Given the description of an element on the screen output the (x, y) to click on. 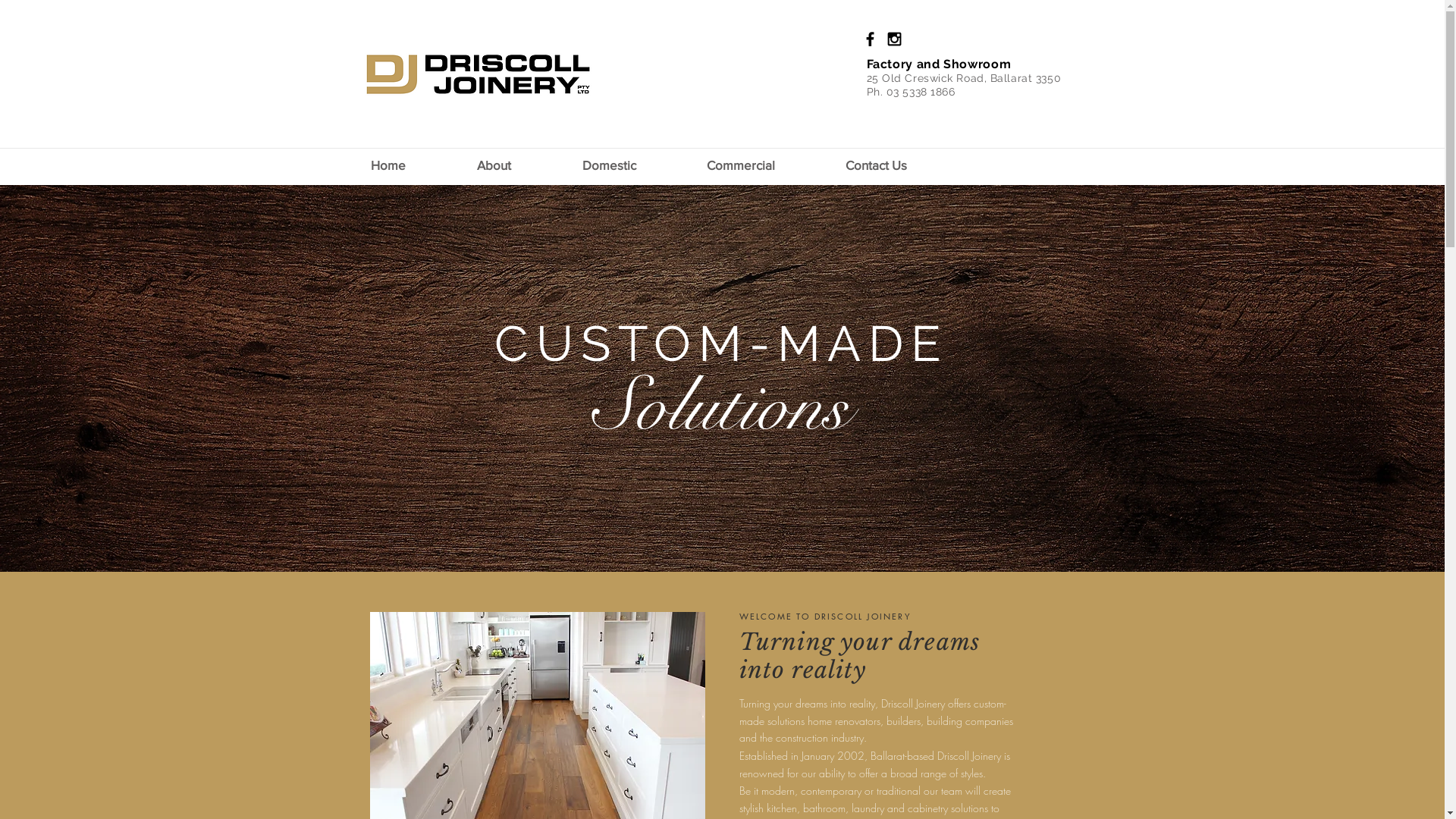
About Element type: text (521, 164)
Home Element type: text (415, 164)
Commercial Element type: text (768, 164)
Screen Shot 2016-10-27 at 12.31.07 PM.png Element type: hover (477, 74)
Contact Us Element type: text (903, 164)
